Given the description of an element on the screen output the (x, y) to click on. 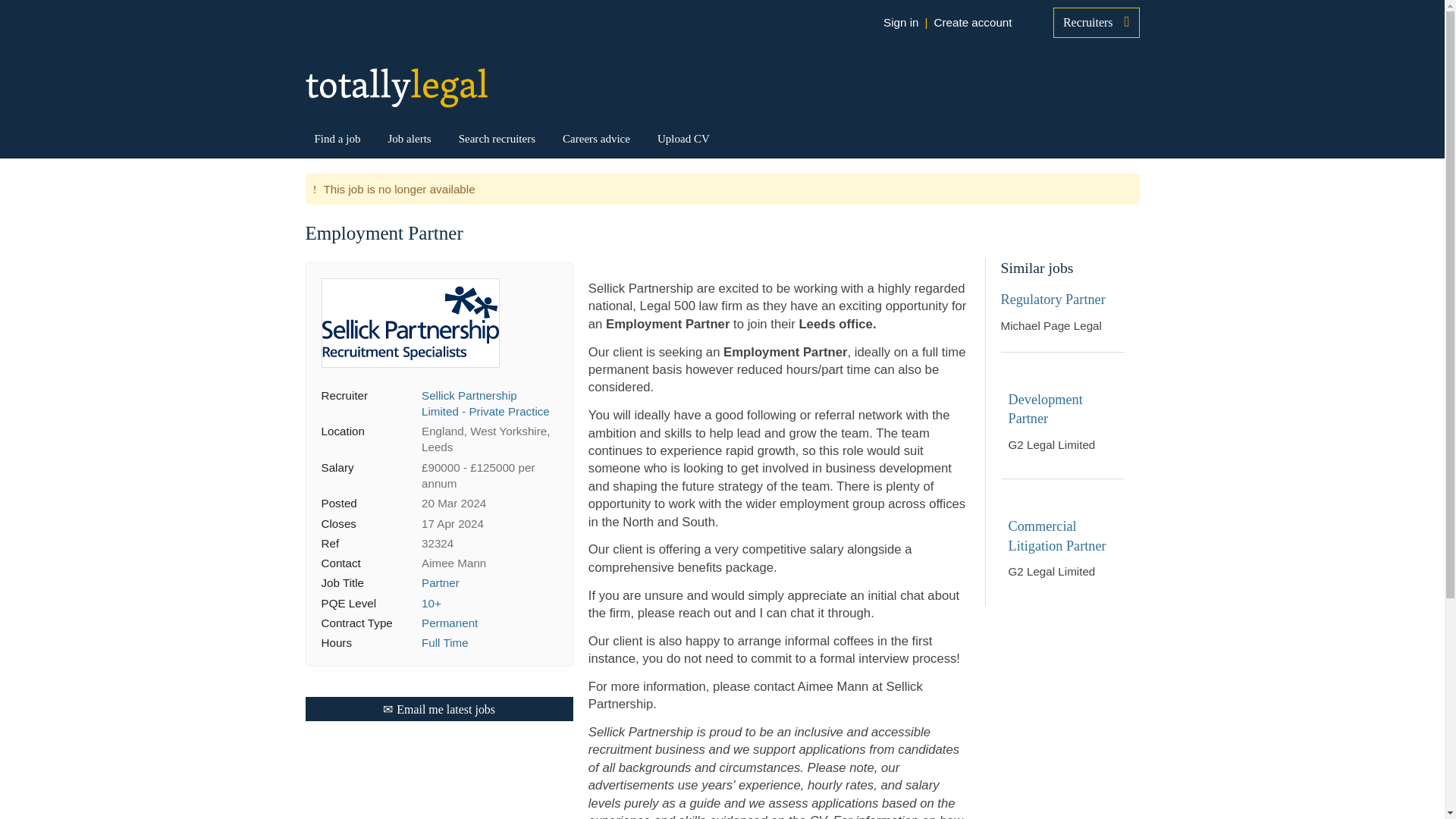
Find a job (336, 138)
Upload CV (684, 138)
Careers advice (596, 138)
Sellick Partnership Limited - Private Practice (486, 403)
Create account (972, 22)
Search recruiters (496, 138)
Job alerts (408, 138)
Full Time (445, 642)
Email me latest jobs (438, 708)
Recruiters (1096, 22)
TotallyLegal (395, 87)
Permanent (449, 622)
Partner (441, 582)
Sign in (900, 22)
